Given the description of an element on the screen output the (x, y) to click on. 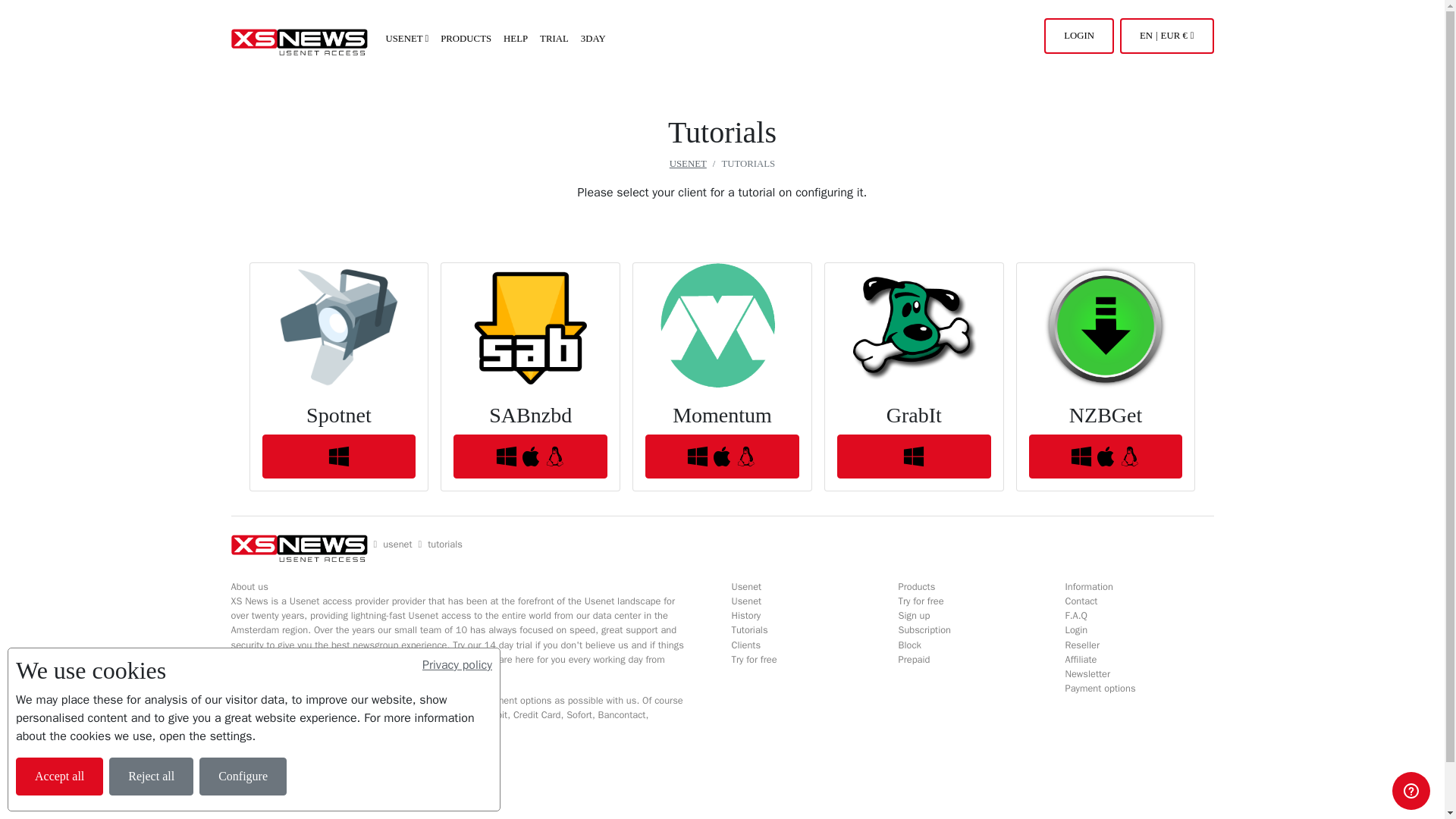
usenet (397, 544)
TRIAL (554, 38)
USENET (687, 163)
LOGIN (1078, 36)
PRODUCTS (465, 38)
tutorials (445, 544)
USENET  (405, 38)
3DAY (593, 38)
HELP (515, 38)
